Given the description of an element on the screen output the (x, y) to click on. 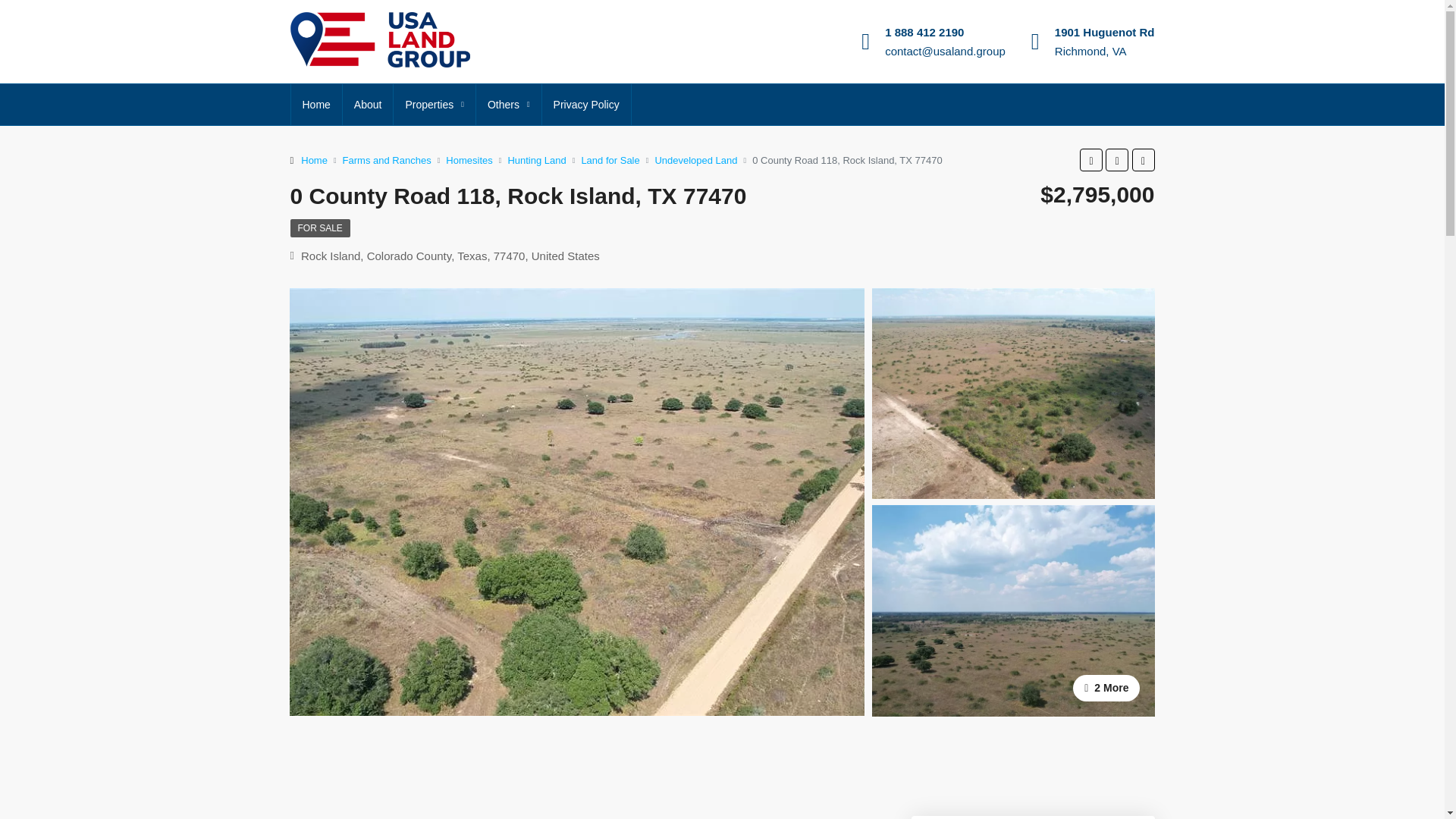
Properties (433, 104)
About (367, 104)
1 888 412 2190 (924, 31)
Others (508, 104)
Home (316, 104)
